Given the description of an element on the screen output the (x, y) to click on. 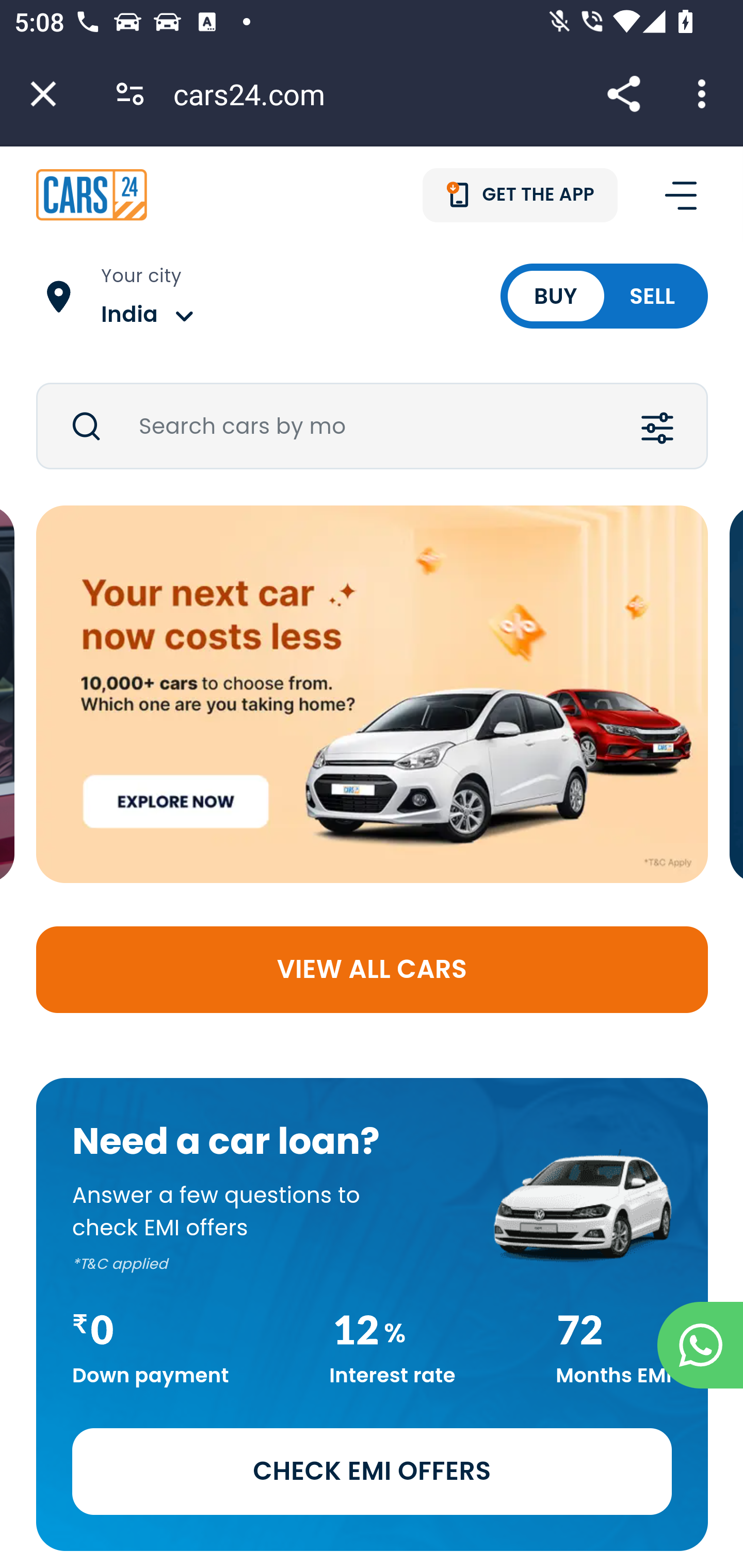
Close tab (43, 93)
Share (623, 93)
Customize and control Google Chrome (705, 93)
Connection is secure (129, 93)
cars24.com (256, 93)
GET THE APP (520, 195)
logo (91, 194)
BUY (554, 297)
SELL (652, 297)
VIEW ALL CARS (372, 969)
CHECK EMI OFFERS (372, 1472)
